Given the description of an element on the screen output the (x, y) to click on. 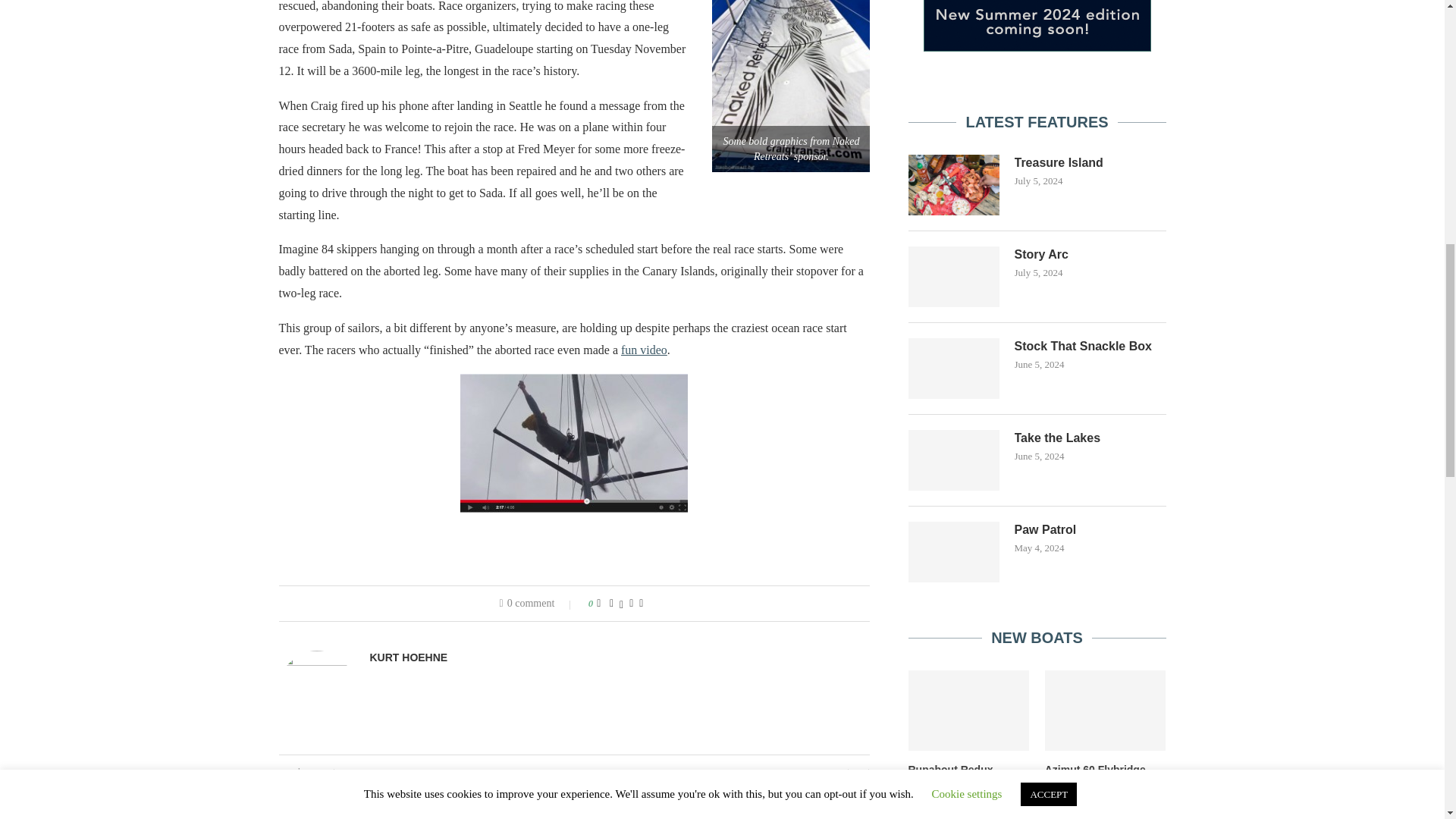
Author Kurt Hoehne (408, 657)
Like (597, 603)
